Given the description of an element on the screen output the (x, y) to click on. 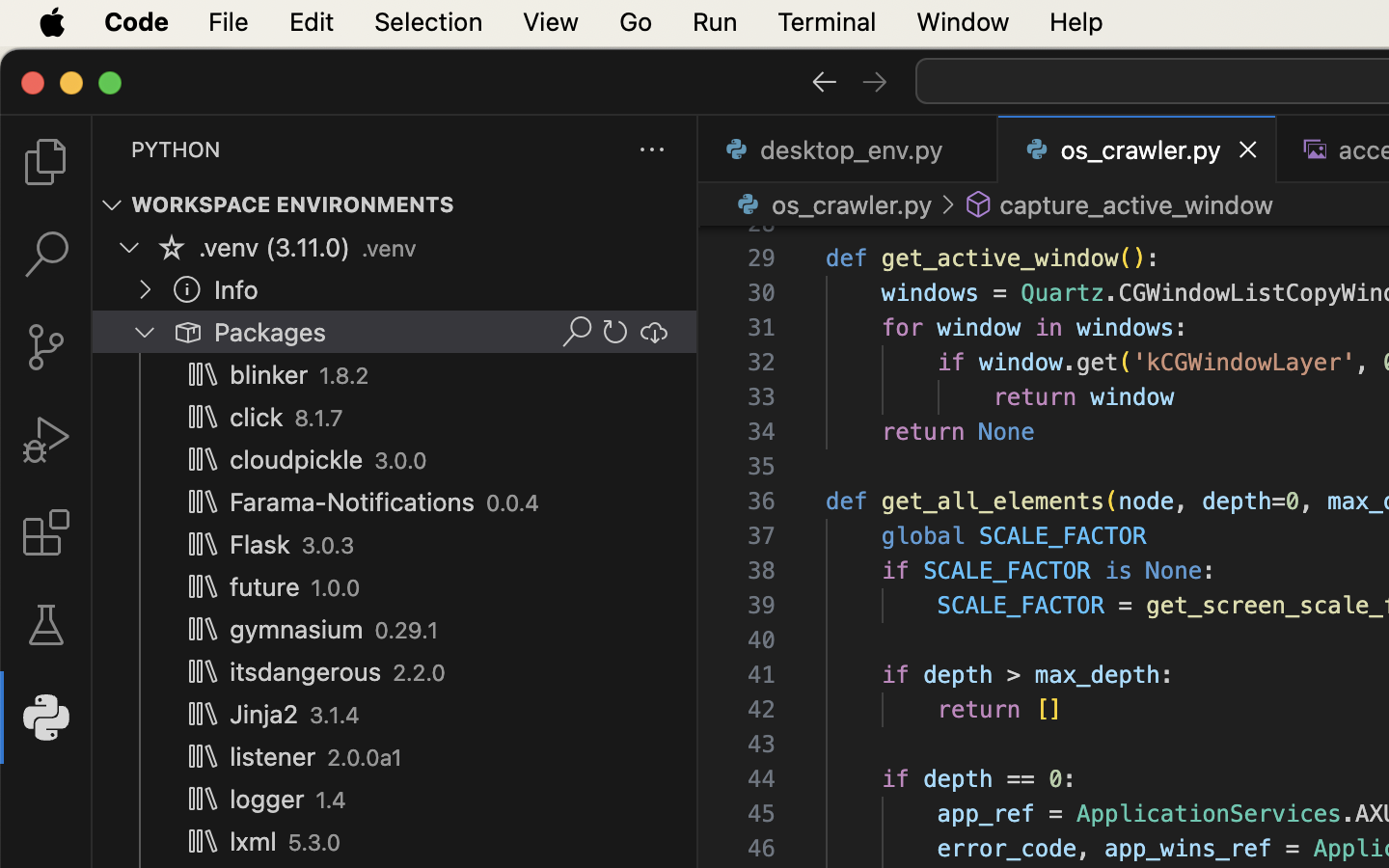
1.8.2 Element type: AXStaticText (345, 375)
0  Element type: AXRadioButton (46, 346)
itsdangerous Element type: AXStaticText (305, 671)
0  Element type: AXRadioButton (46, 439)
os_crawler.py  Element type: AXGroup (831, 204)
